Given the description of an element on the screen output the (x, y) to click on. 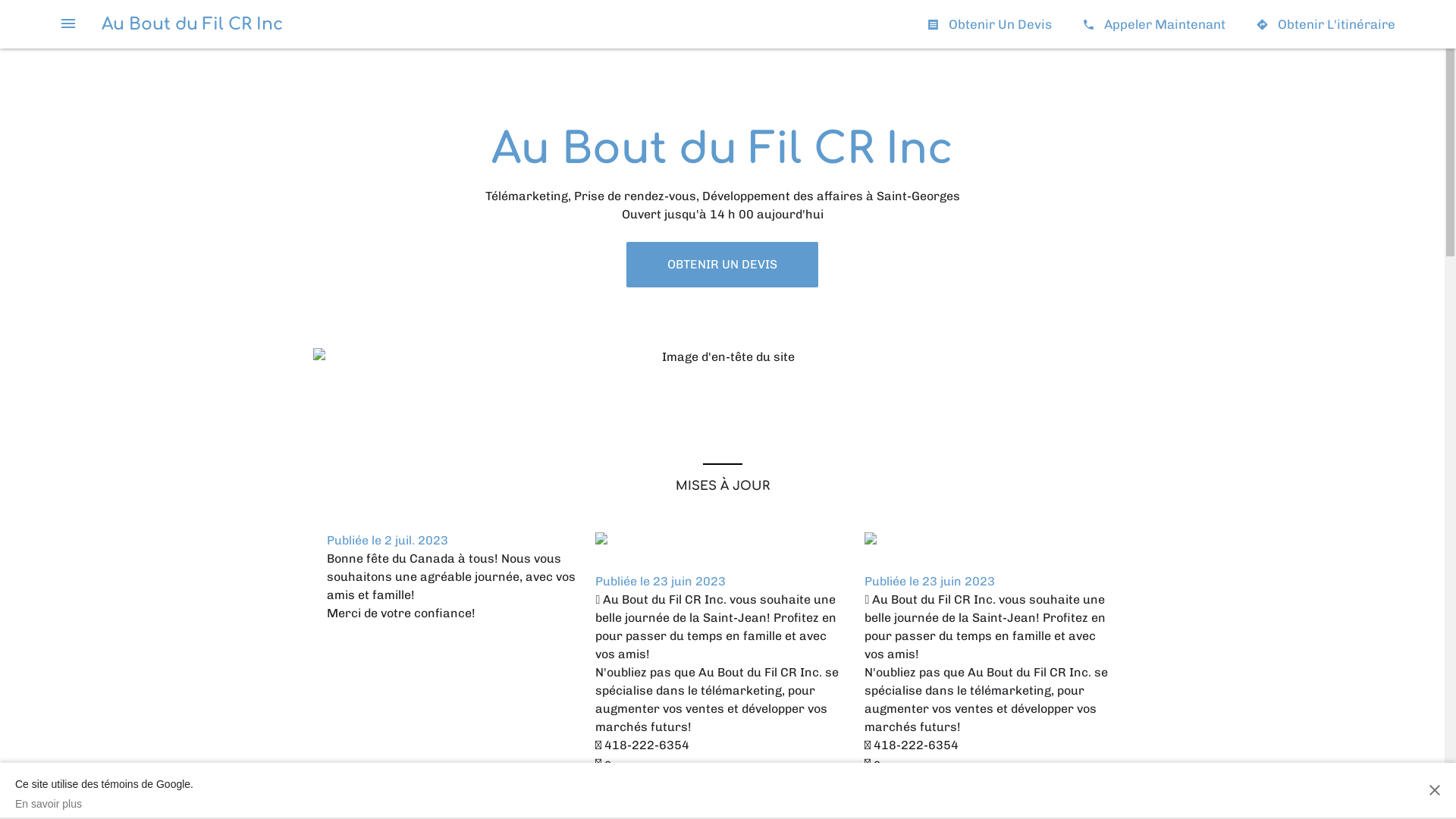
Au Bout du Fil CR Inc Element type: text (191, 24)
En savoir plus Element type: text (636, 795)
OBTENIR UN DEVIS Element type: text (722, 264)
En savoir plus Element type: text (905, 795)
En savoir plus Element type: text (104, 803)
